Given the description of an element on the screen output the (x, y) to click on. 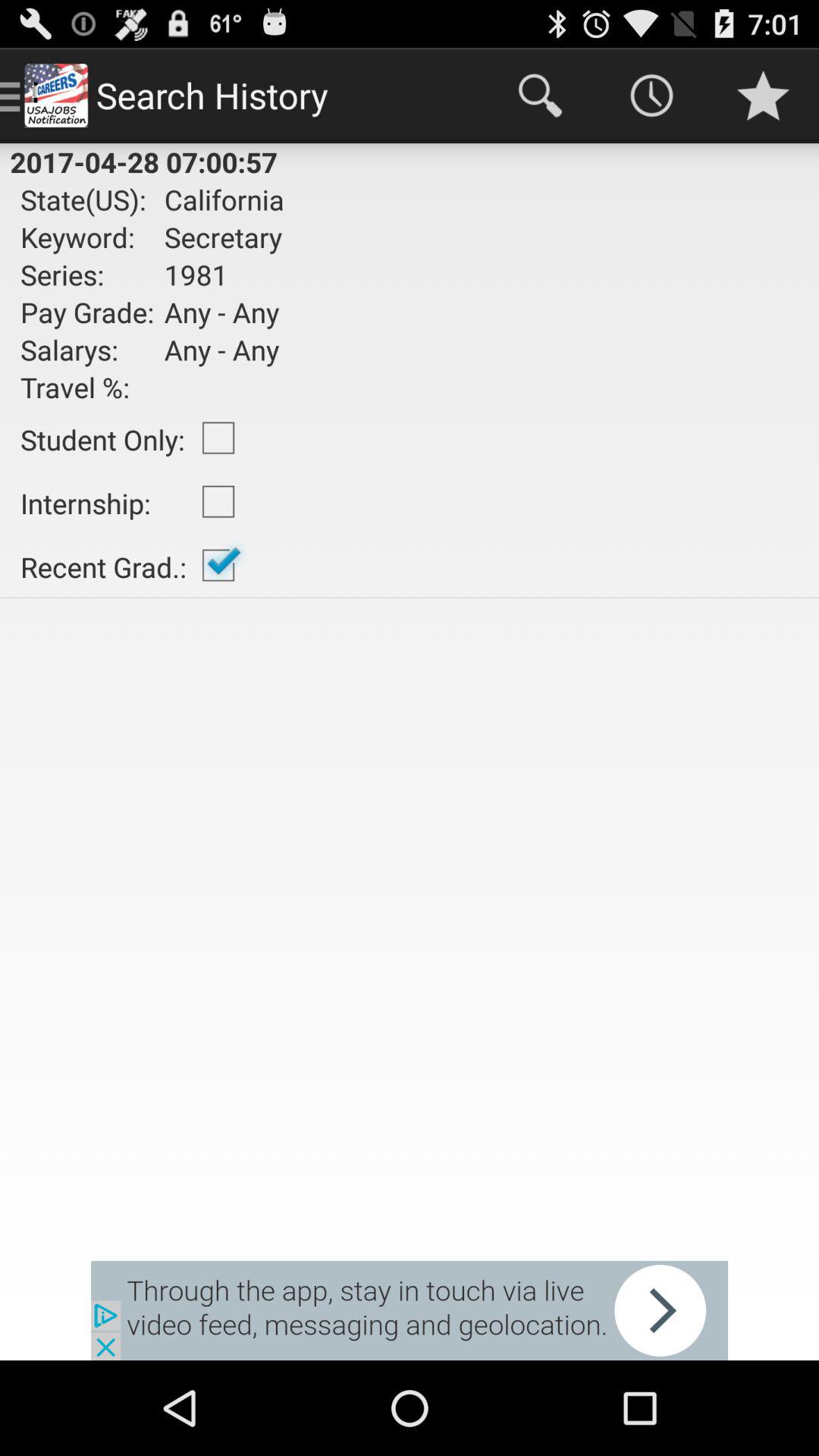
open advertisement (409, 1310)
